Given the description of an element on the screen output the (x, y) to click on. 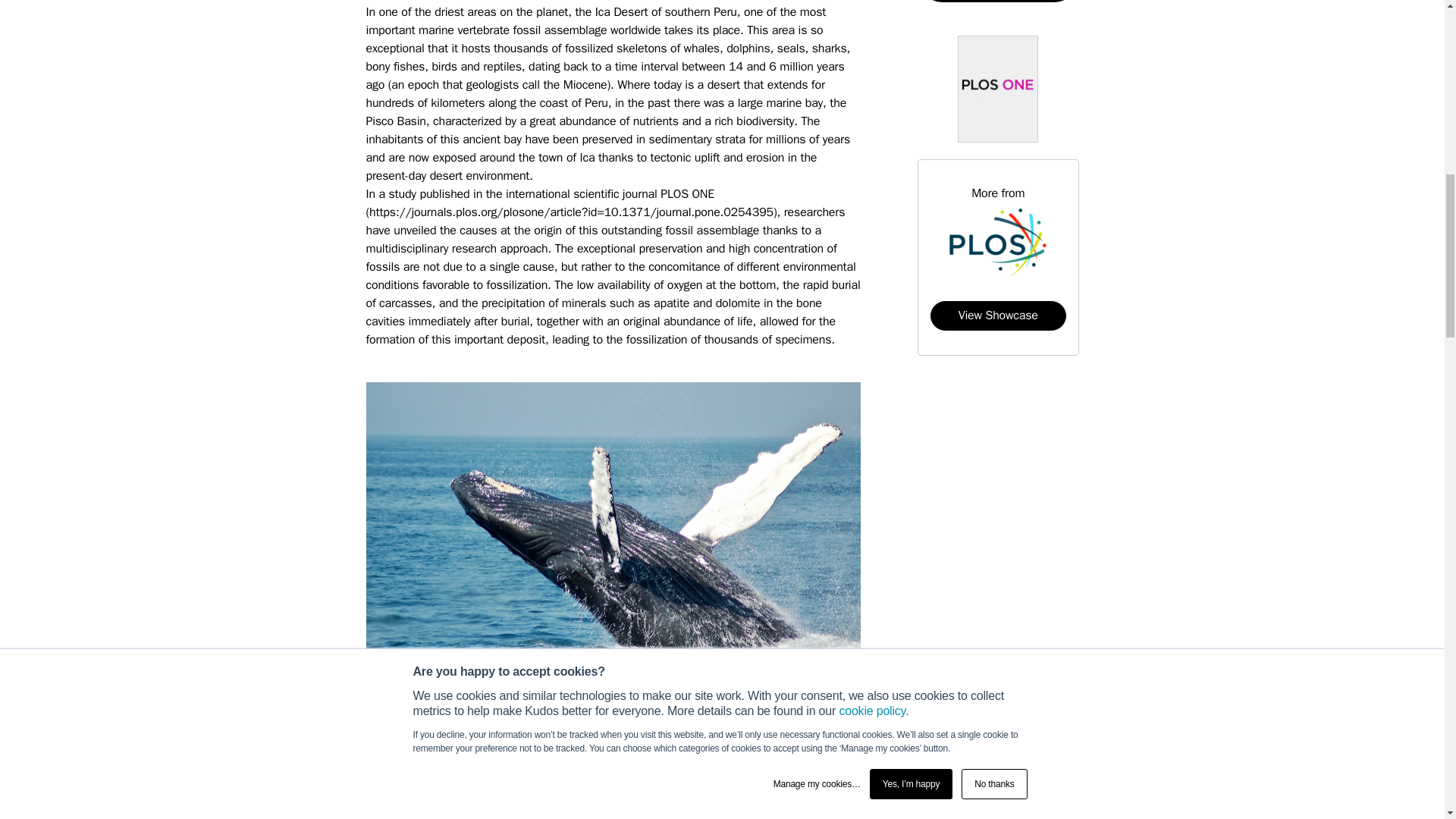
Unsplash (675, 721)
View Showcase (997, 315)
Todd Cravens (603, 721)
Read Article (997, 1)
